Given the description of an element on the screen output the (x, y) to click on. 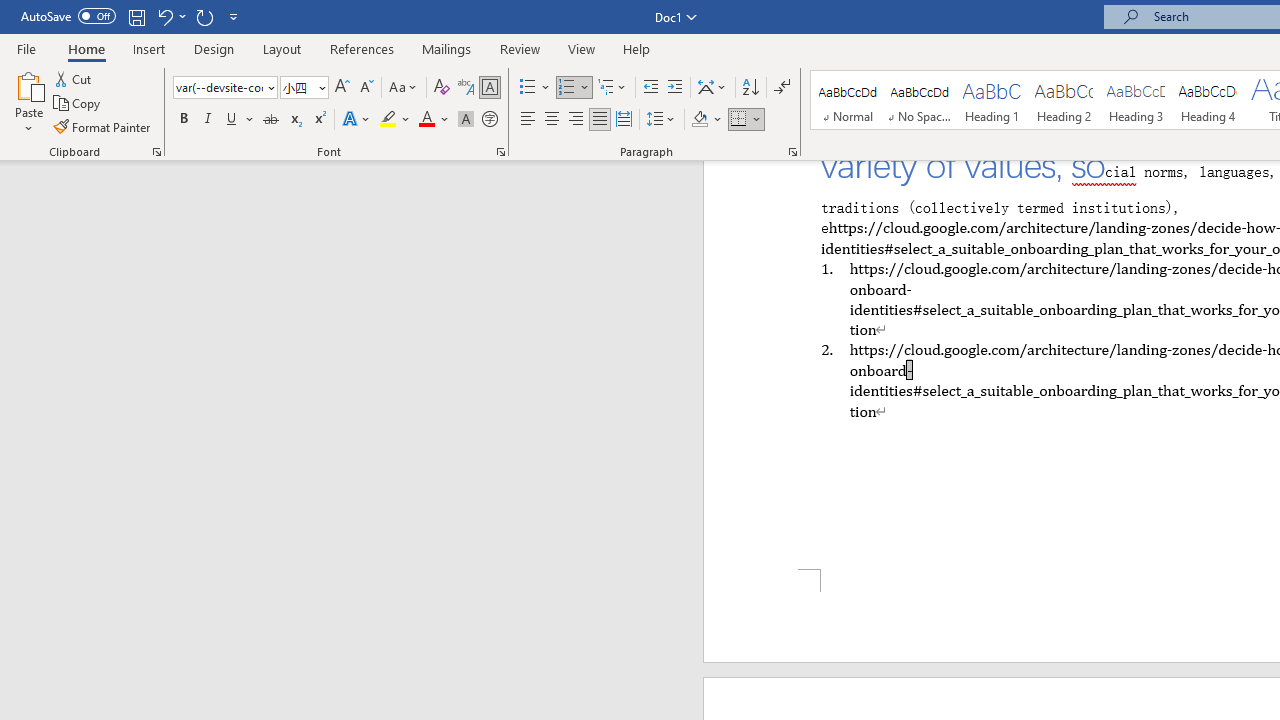
Bold (183, 119)
Underline (232, 119)
Save (136, 15)
Character Border (489, 87)
Align Right (575, 119)
Format Painter (103, 126)
Mailings (447, 48)
Design (214, 48)
Decrease Indent (650, 87)
Superscript (319, 119)
Font Size (297, 87)
Undo Paragraph Alignment (170, 15)
Clear Formatting (442, 87)
